Given the description of an element on the screen output the (x, y) to click on. 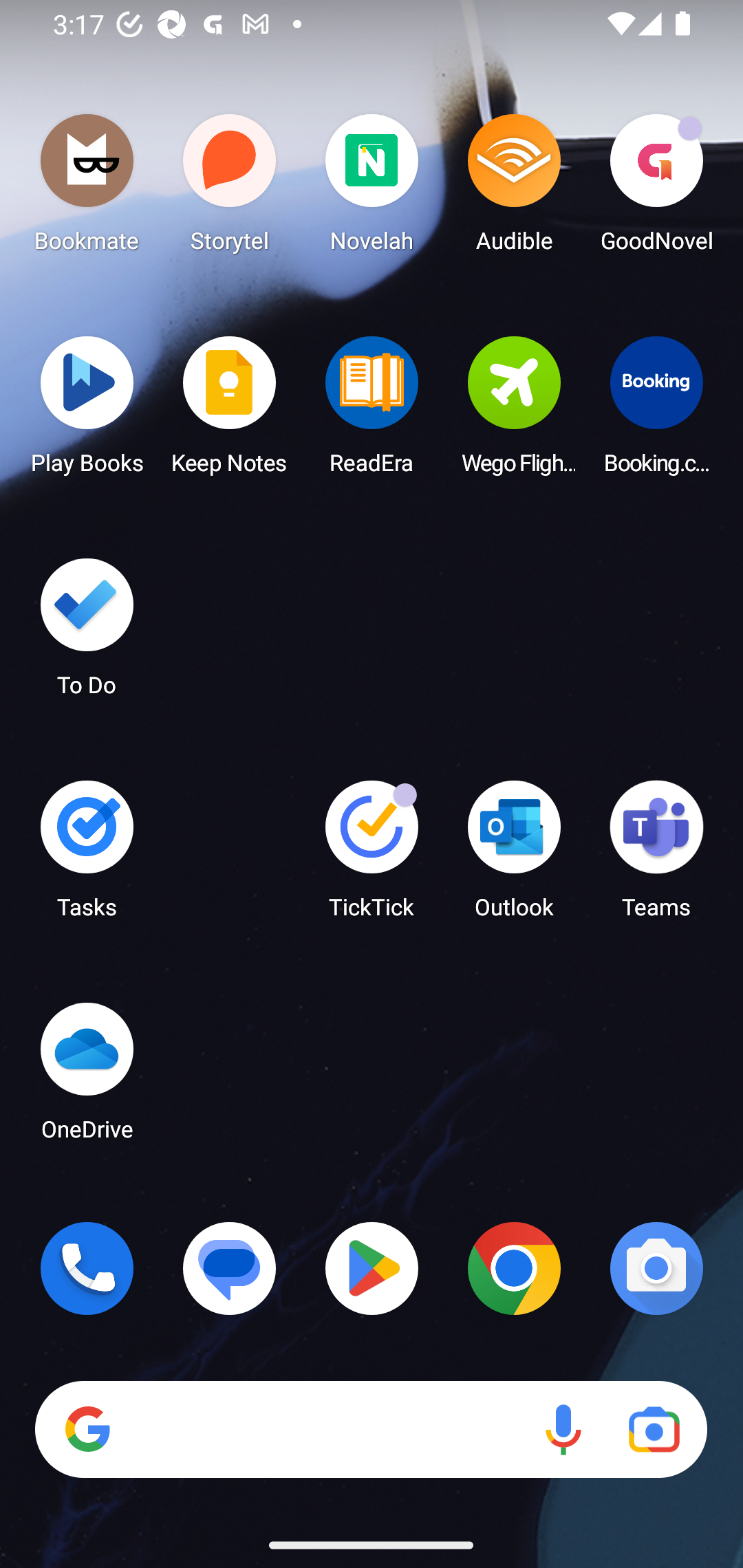
Bookmate (86, 188)
Storytel (229, 188)
Novelah (371, 188)
Audible (513, 188)
GoodNovel GoodNovel has 1 notification (656, 188)
Play Books (86, 410)
Keep Notes (229, 410)
ReadEra (371, 410)
Wego Flights & Hotels (513, 410)
Booking.com (656, 410)
To Do (86, 633)
Tasks (86, 854)
TickTick TickTick has 3 notifications (371, 854)
Outlook (513, 854)
Teams (656, 854)
OneDrive (86, 1076)
Phone (86, 1268)
Messages (229, 1268)
Play Store (371, 1268)
Chrome (513, 1268)
Camera (656, 1268)
Search Voice search Google Lens (370, 1429)
Voice search (562, 1429)
Google Lens (653, 1429)
